Given the description of an element on the screen output the (x, y) to click on. 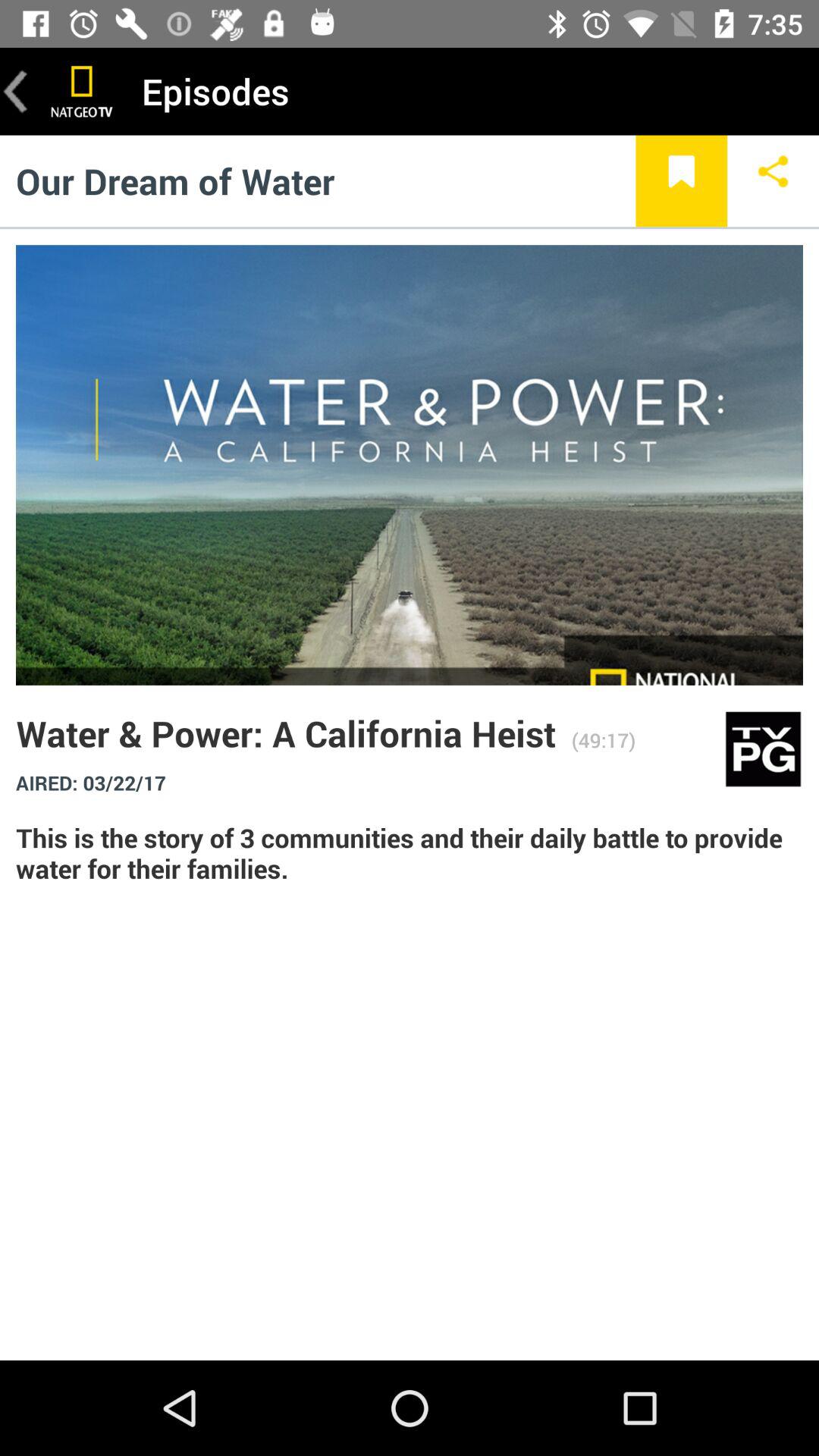
click to natgeotv (81, 91)
